Given the description of an element on the screen output the (x, y) to click on. 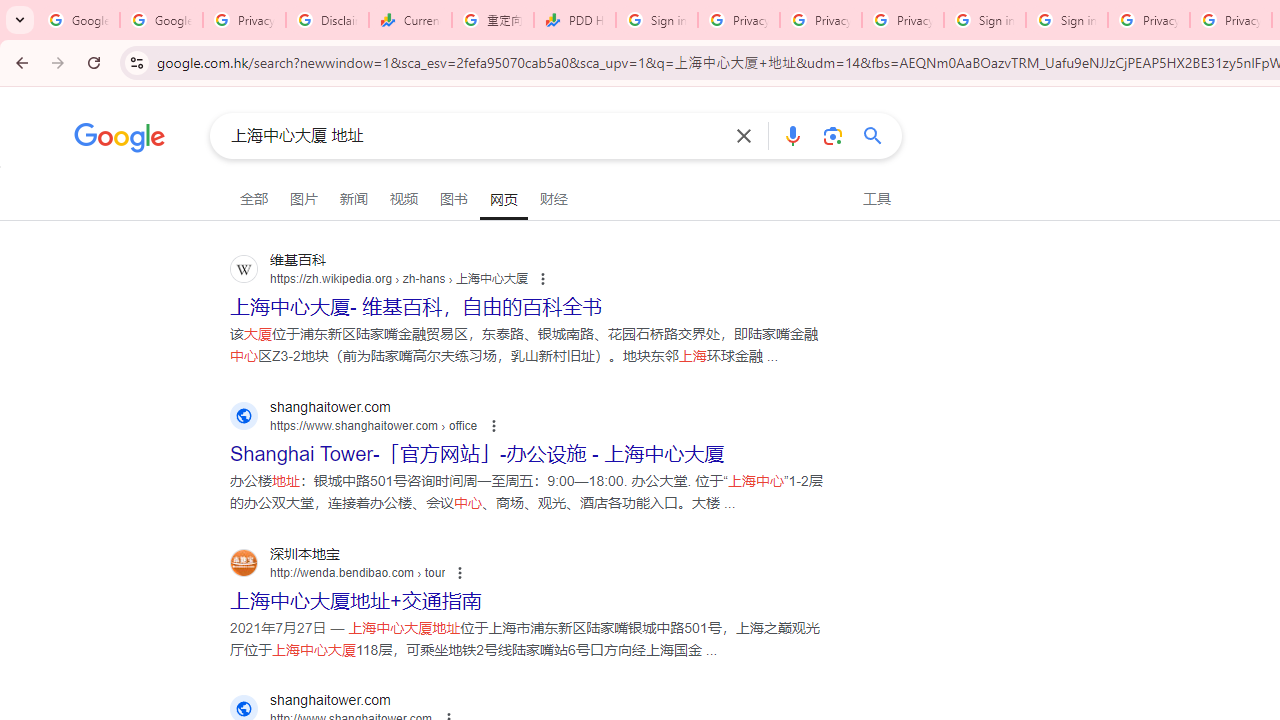
Privacy Checkup (902, 20)
Privacy Checkup (820, 20)
PDD Holdings Inc - ADR (PDD) Price & News - Google Finance (574, 20)
Currencies - Google Finance (409, 20)
